Given the description of an element on the screen output the (x, y) to click on. 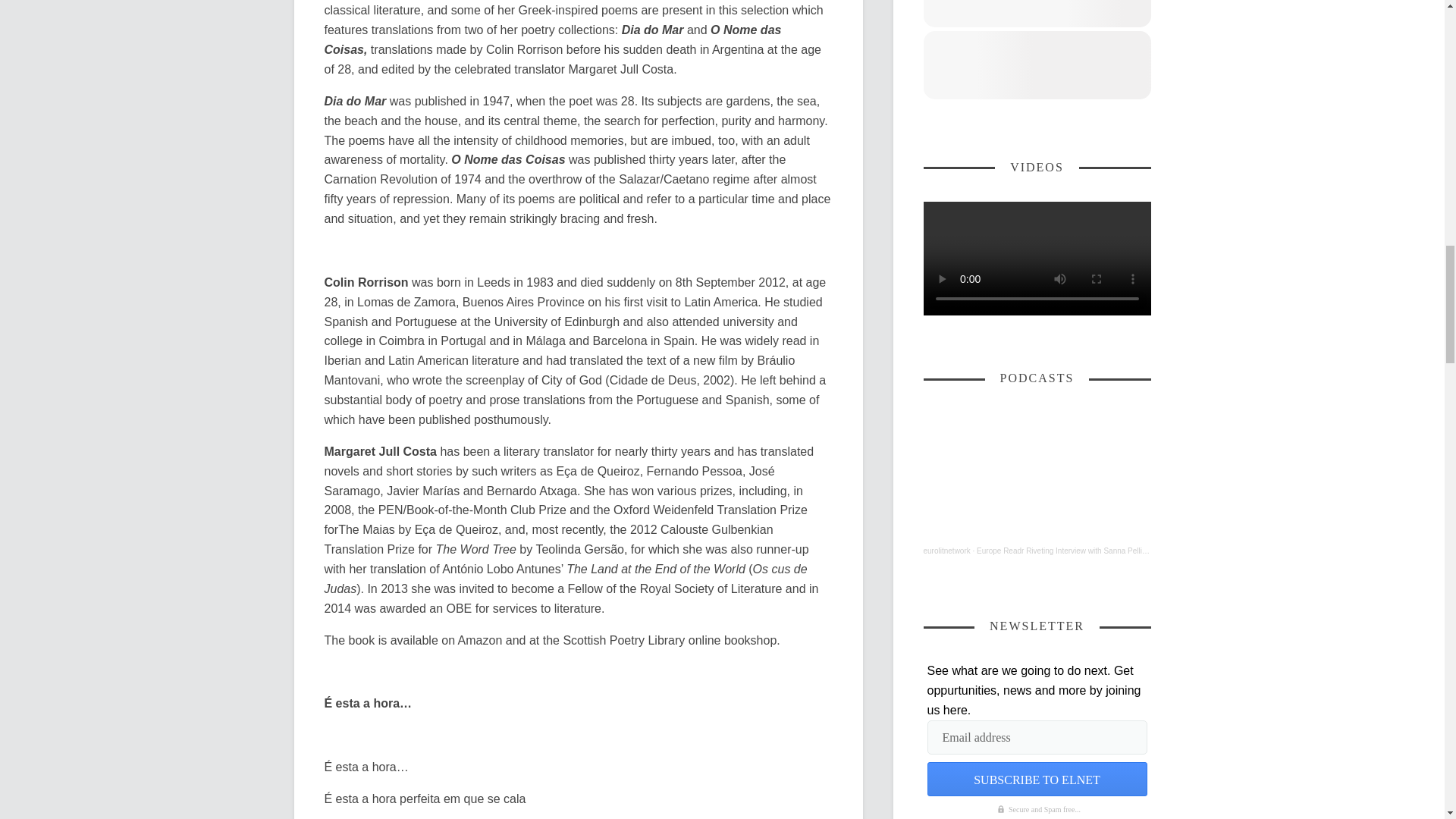
eurolitnetwork (947, 551)
Europe Readr Riveting Interview with Sanna Pelliccioni (1068, 551)
